Given the description of an element on the screen output the (x, y) to click on. 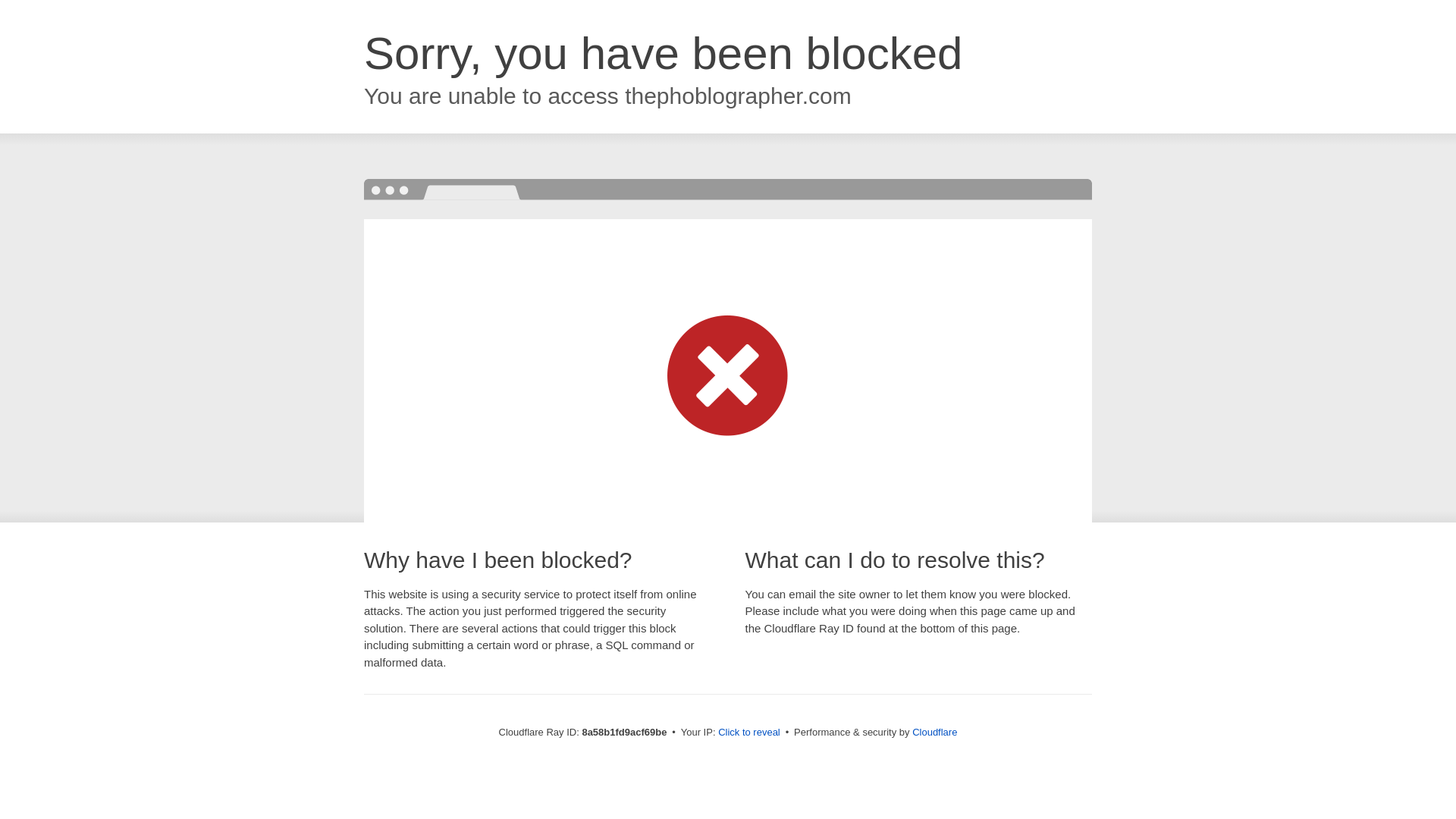
Cloudflare (934, 731)
Click to reveal (748, 732)
